Given the description of an element on the screen output the (x, y) to click on. 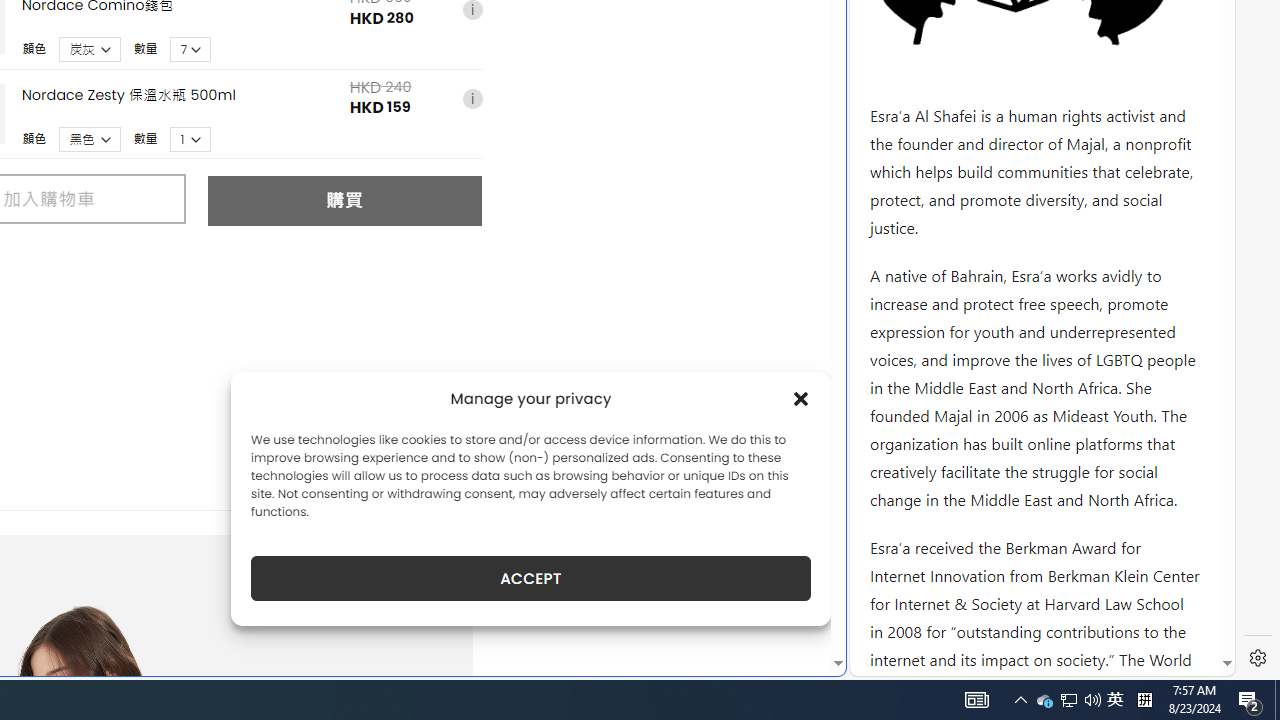
i (472, 99)
